Given the description of an element on the screen output the (x, y) to click on. 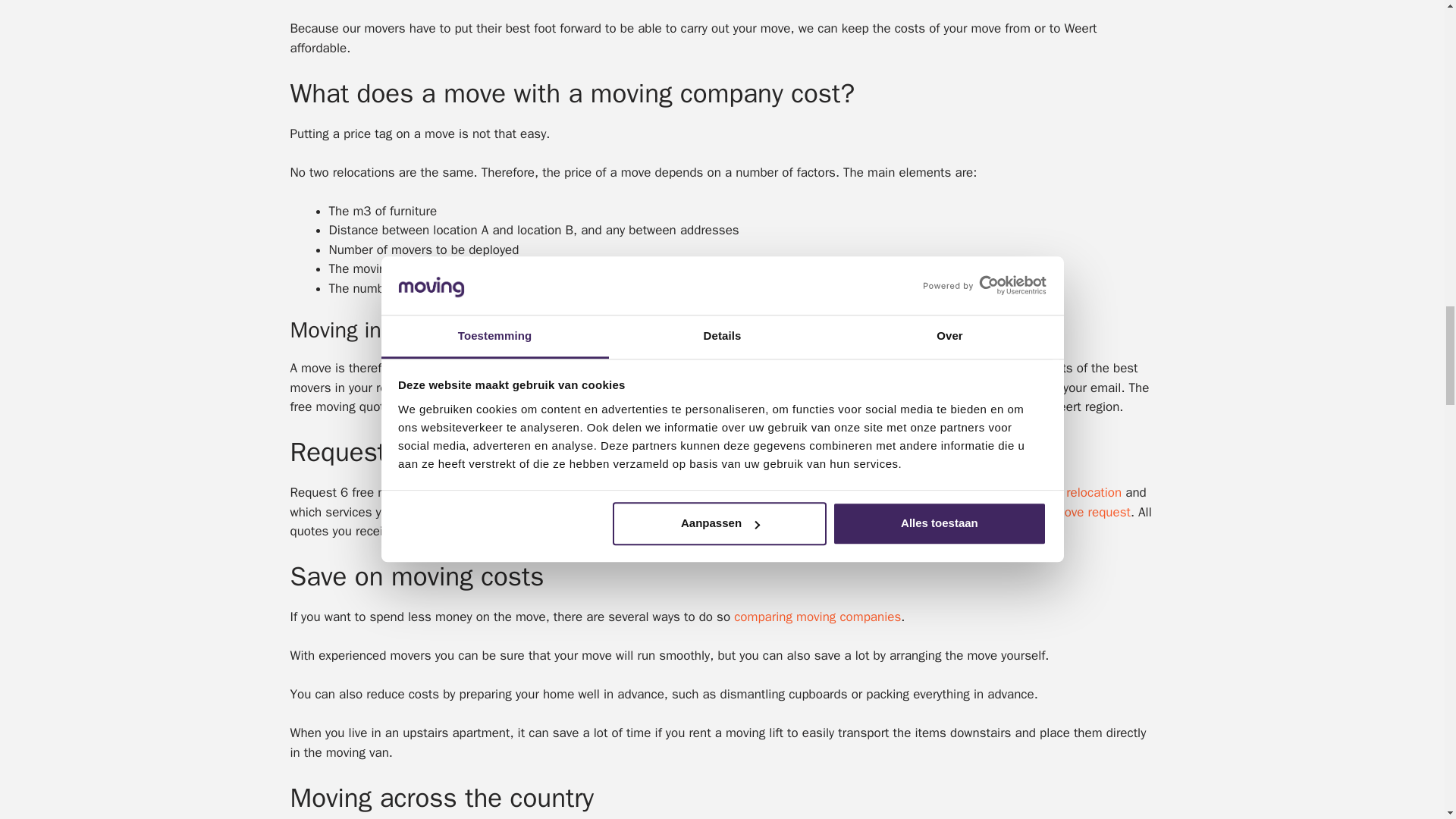
moving quotes (1003, 387)
